Given the description of an element on the screen output the (x, y) to click on. 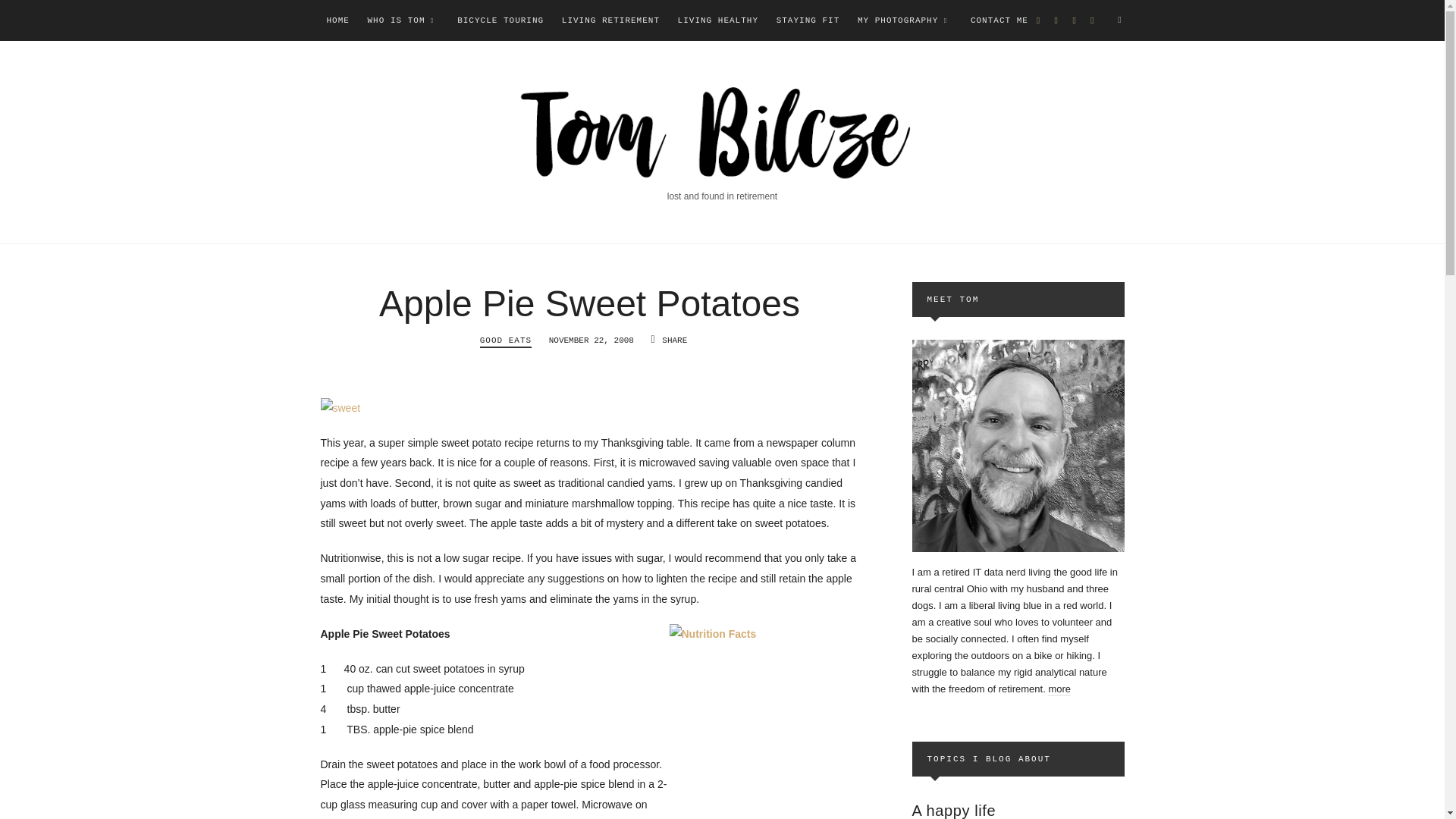
WHO IS TOM (396, 20)
Eating well and developing healthy habits (718, 20)
CONTACT ME (999, 20)
Hitting the gym and being an active person (808, 20)
My random thoughts about retirement (610, 20)
Get to know more about me (396, 20)
Search (38, 17)
Send me an email (999, 20)
LIVING HEALTHY (718, 20)
MY PHOTOGRAPHY (897, 20)
LIVING RETIREMENT (610, 20)
BICYCLE TOURING (500, 20)
A sampling of some of my favorite photos (897, 20)
STAYING FIT (808, 20)
